Given the description of an element on the screen output the (x, y) to click on. 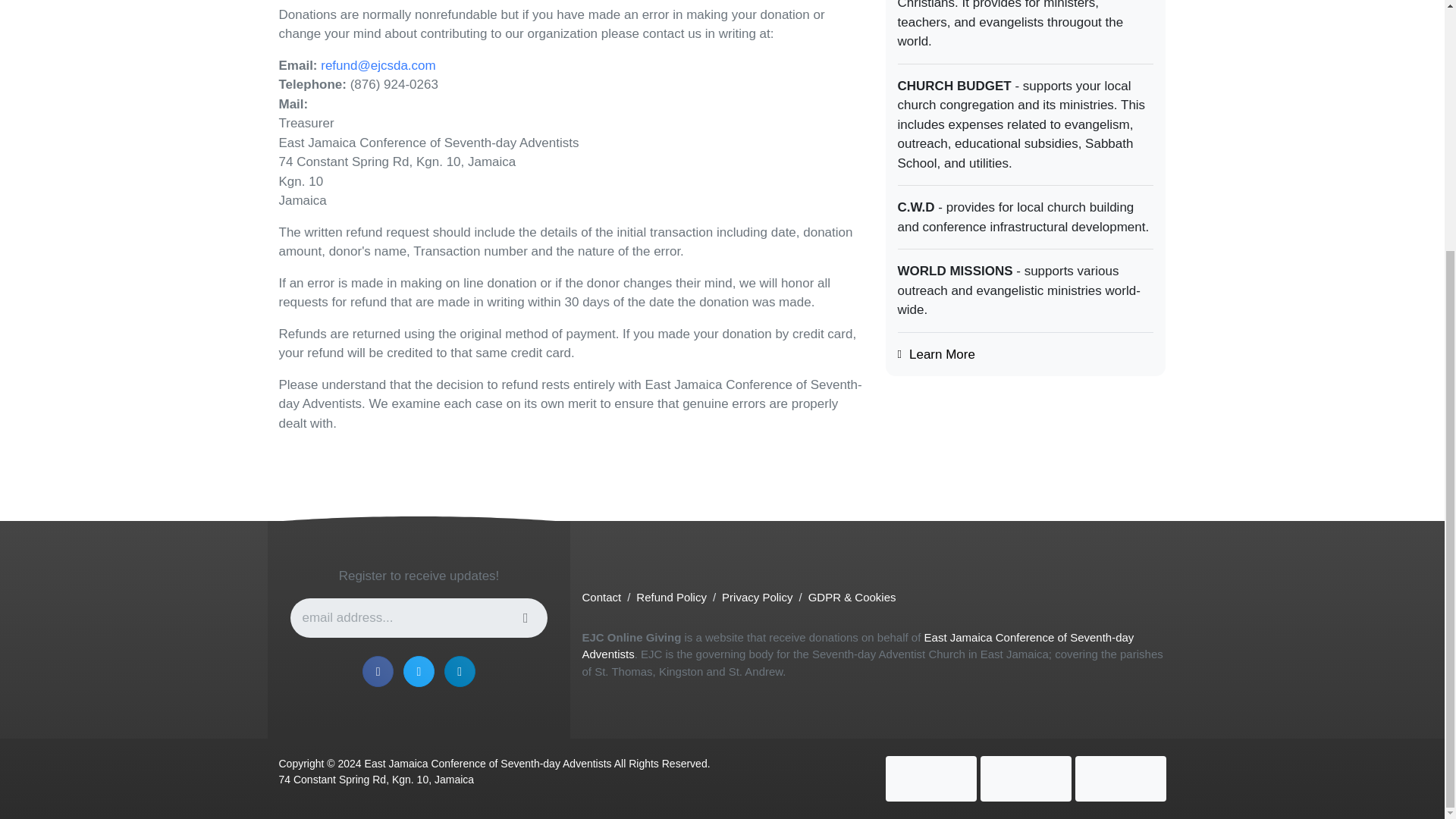
Privacy Policy (757, 596)
Learn More (941, 354)
East Jamaica Conference of Seventh-day Adventists (857, 645)
Contact (600, 596)
Refund Policy (671, 596)
